Given the description of an element on the screen output the (x, y) to click on. 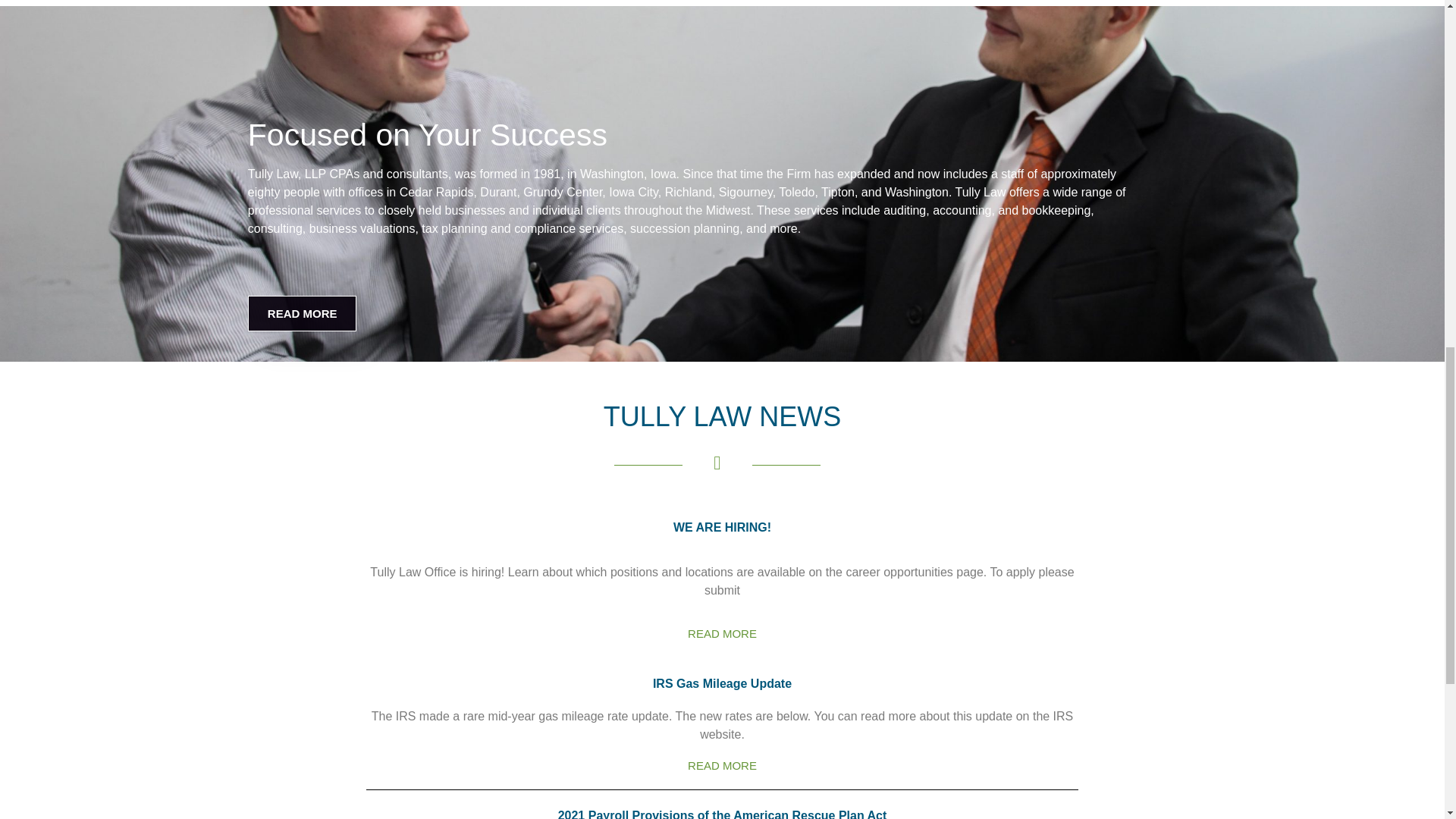
READ MORE (301, 313)
READ MORE (722, 765)
READ MORE (722, 633)
